Given the description of an element on the screen output the (x, y) to click on. 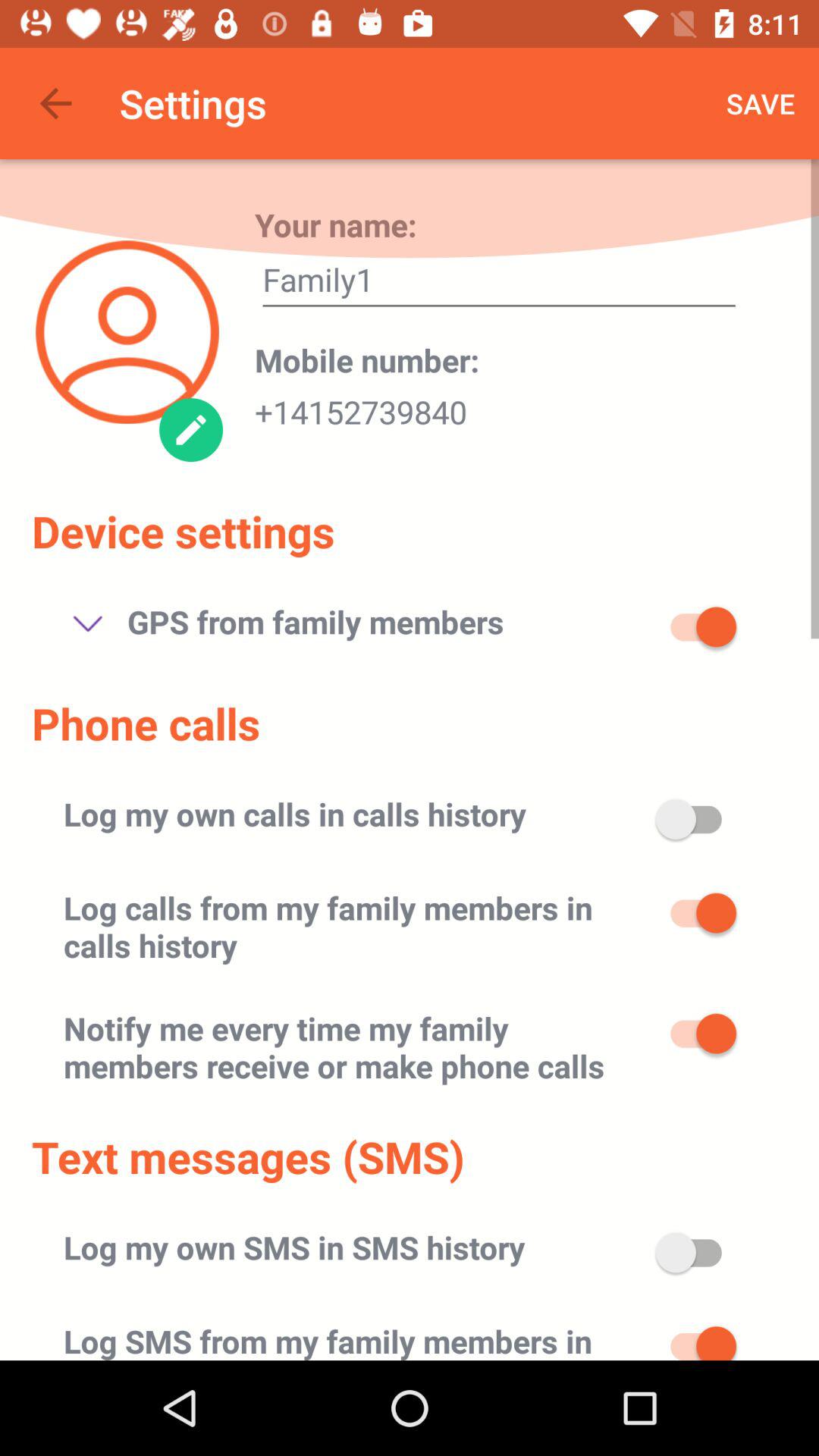
click the icon below log calls from (355, 1046)
